Given the description of an element on the screen output the (x, y) to click on. 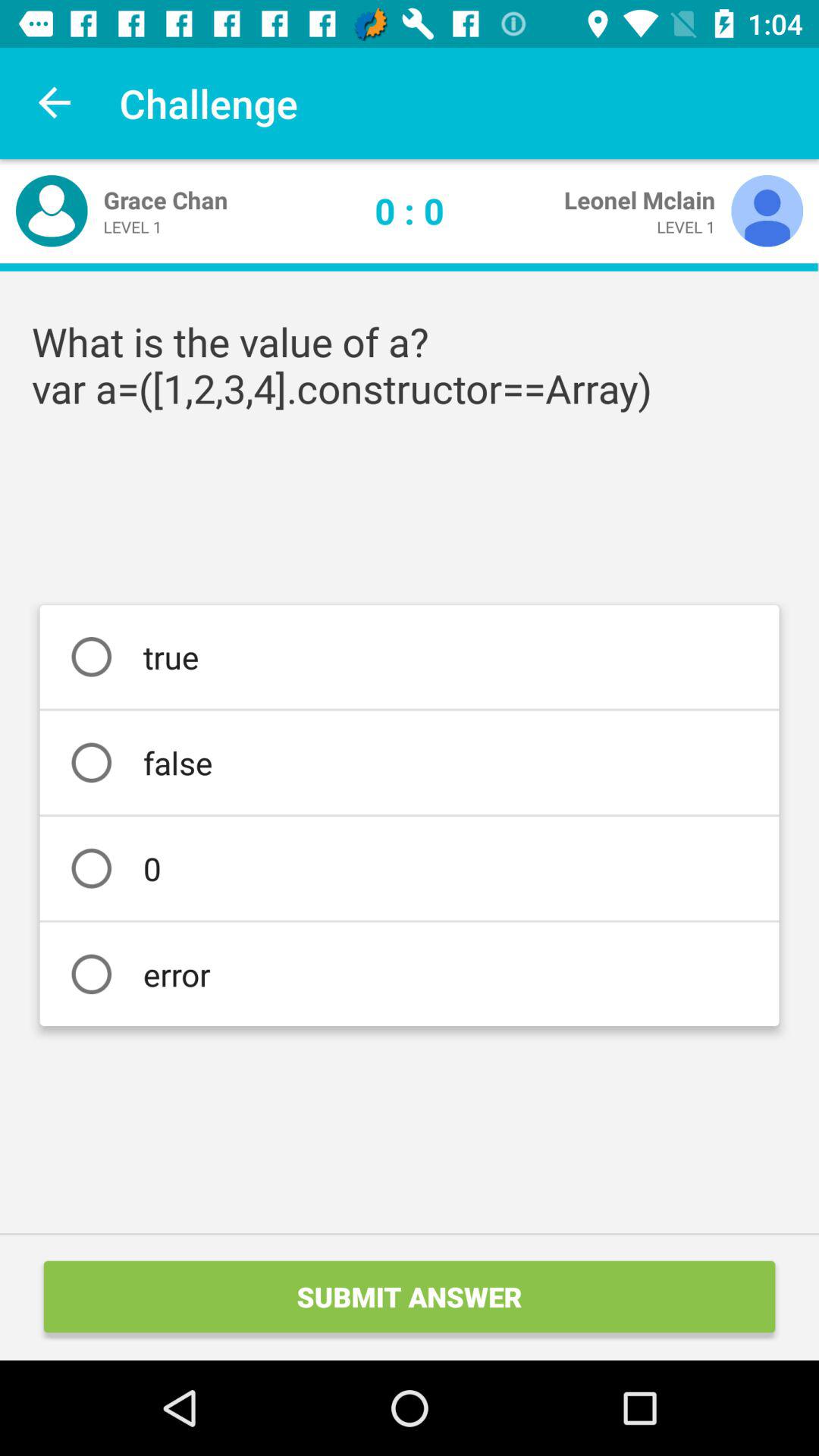
click the profile icon of grace chan (51, 210)
